Given the description of an element on the screen output the (x, y) to click on. 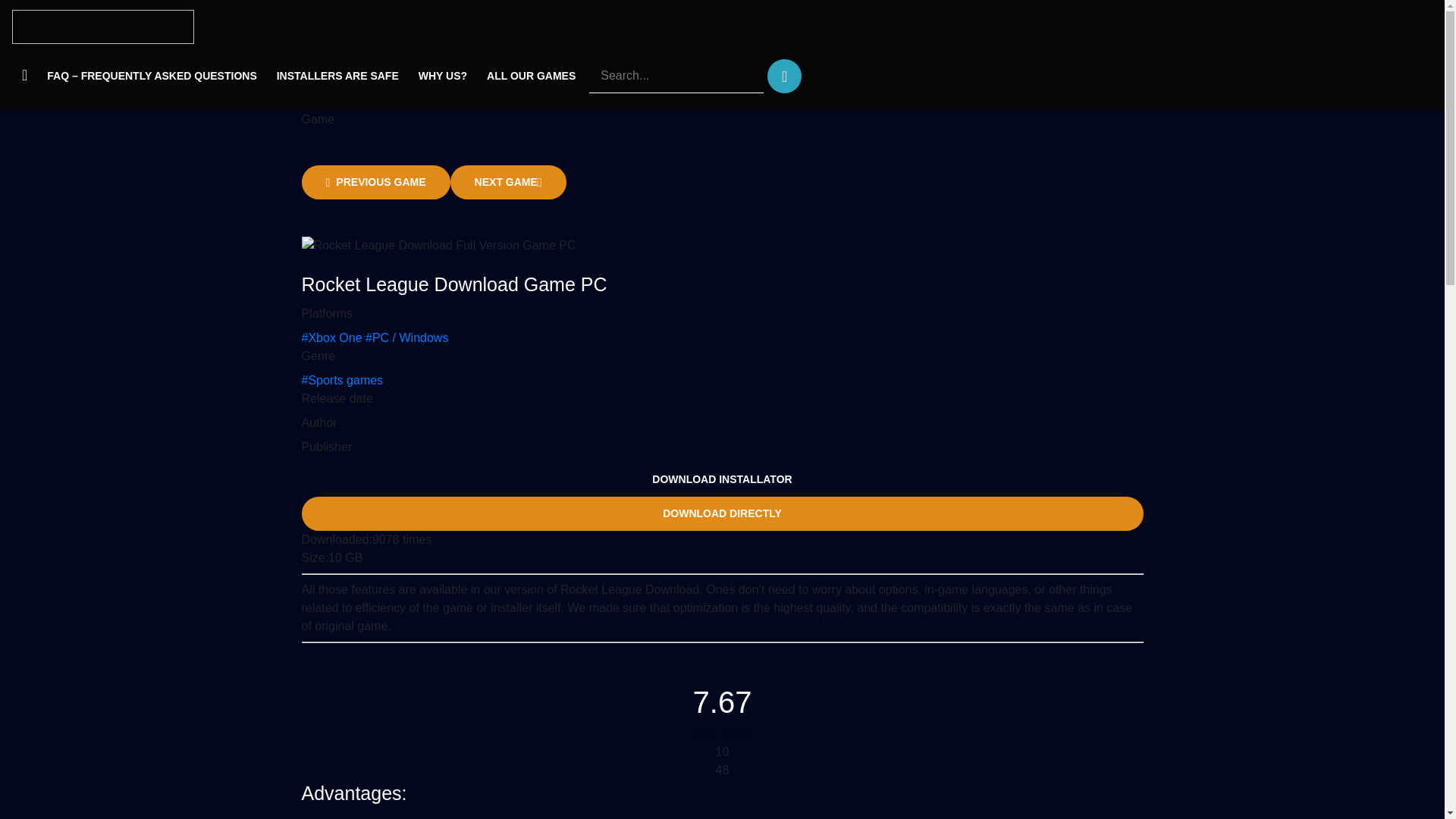
DOWNLOAD INSTALLATOR (721, 479)
WHY US? (442, 76)
NEXT GAME (507, 182)
PREVIOUS GAME (375, 182)
DOWNLOAD DIRECTLY (721, 513)
INSTALLERS ARE SAFE (337, 76)
ALL OUR GAMES (530, 76)
